Given the description of an element on the screen output the (x, y) to click on. 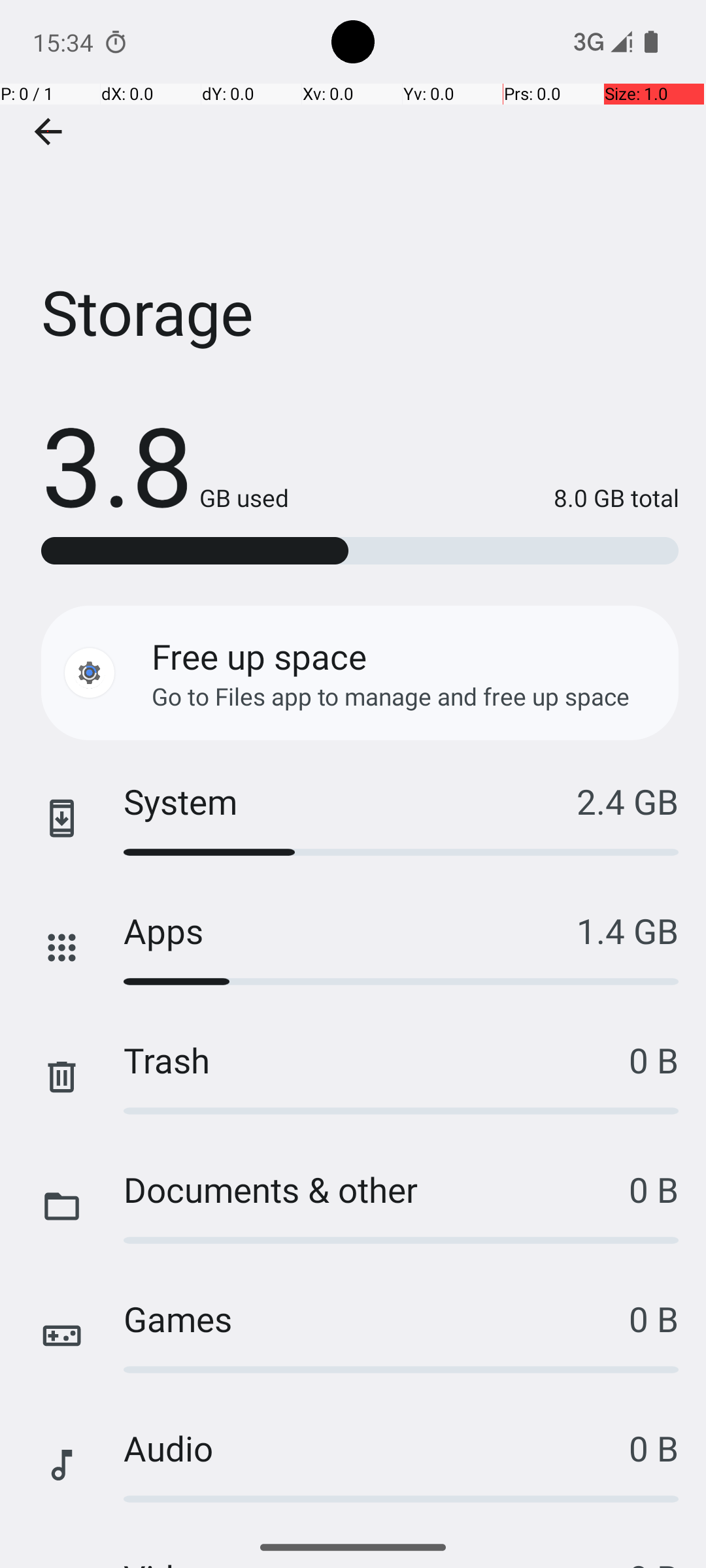
3.8 GB used Element type: android.widget.TextView (164, 463)
2.4 GB Element type: android.widget.TextView (627, 801)
